Given the description of an element on the screen output the (x, y) to click on. 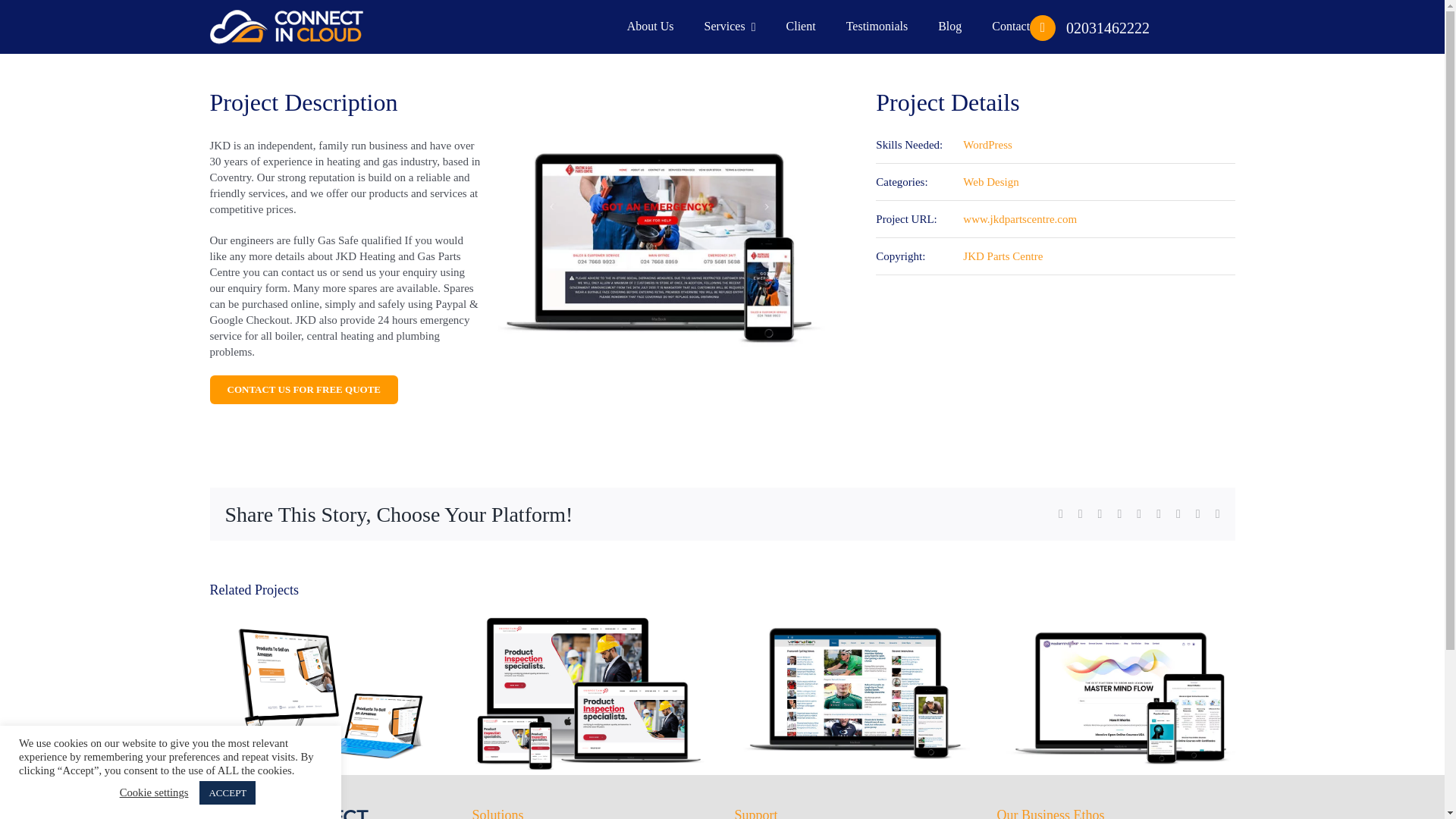
JKD 2 (659, 248)
WordPress (986, 144)
www.jkdpartscentre.com (1019, 218)
About Us (650, 26)
Web Design (989, 182)
CONTACT US FOR FREE QUOTE (303, 389)
Testimonials (876, 26)
Contact (1010, 26)
JKD 1 (285, 26)
Services (729, 26)
JKD Parts Centre (1002, 256)
